Given the description of an element on the screen output the (x, y) to click on. 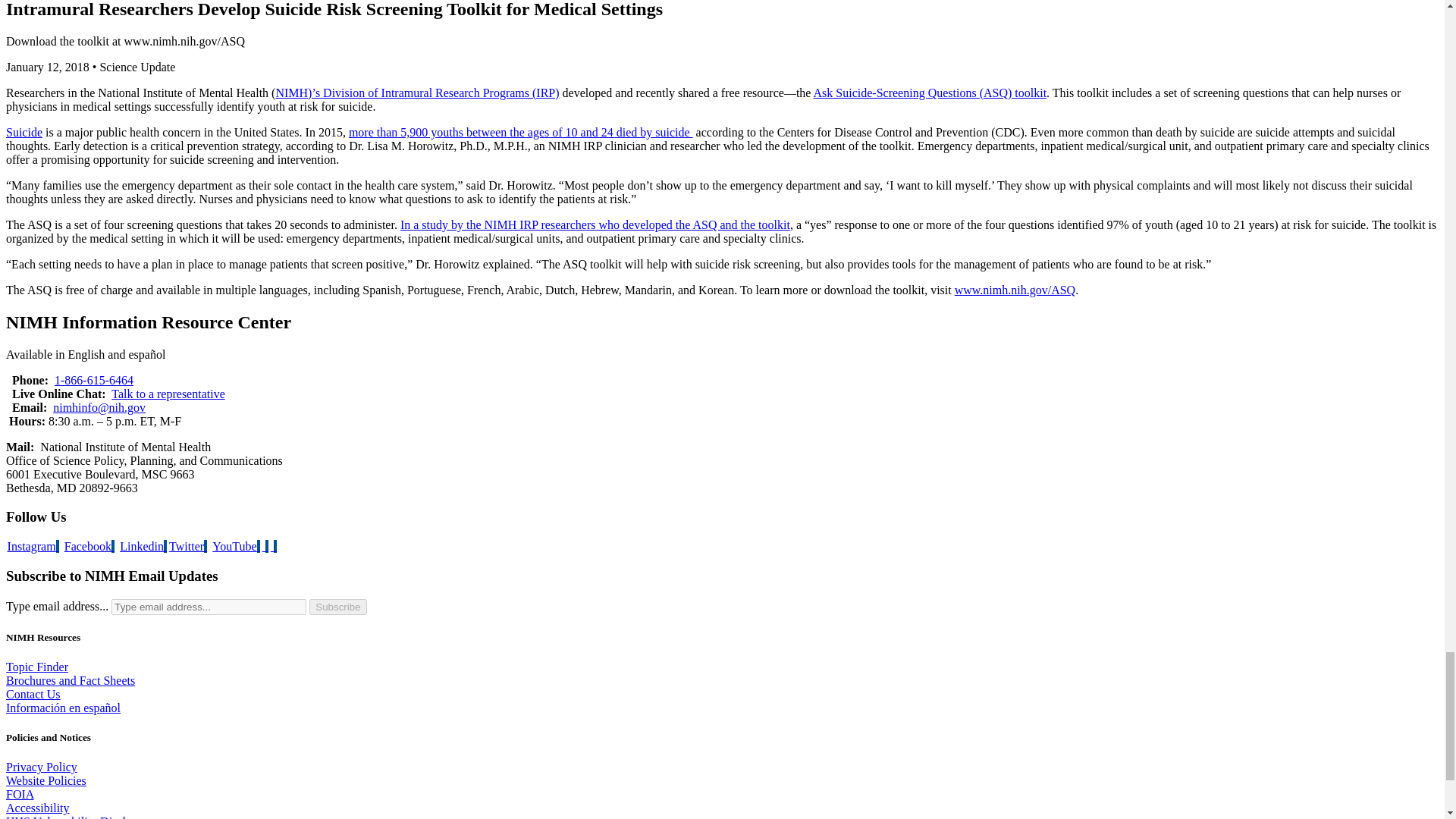
NIMH Facebook (89, 545)
NIMH LinkedIn (143, 545)
NIMH Instagram (33, 545)
NIMH YouTube (235, 545)
NIMH Twitter (187, 545)
Subscribe (337, 606)
